Given the description of an element on the screen output the (x, y) to click on. 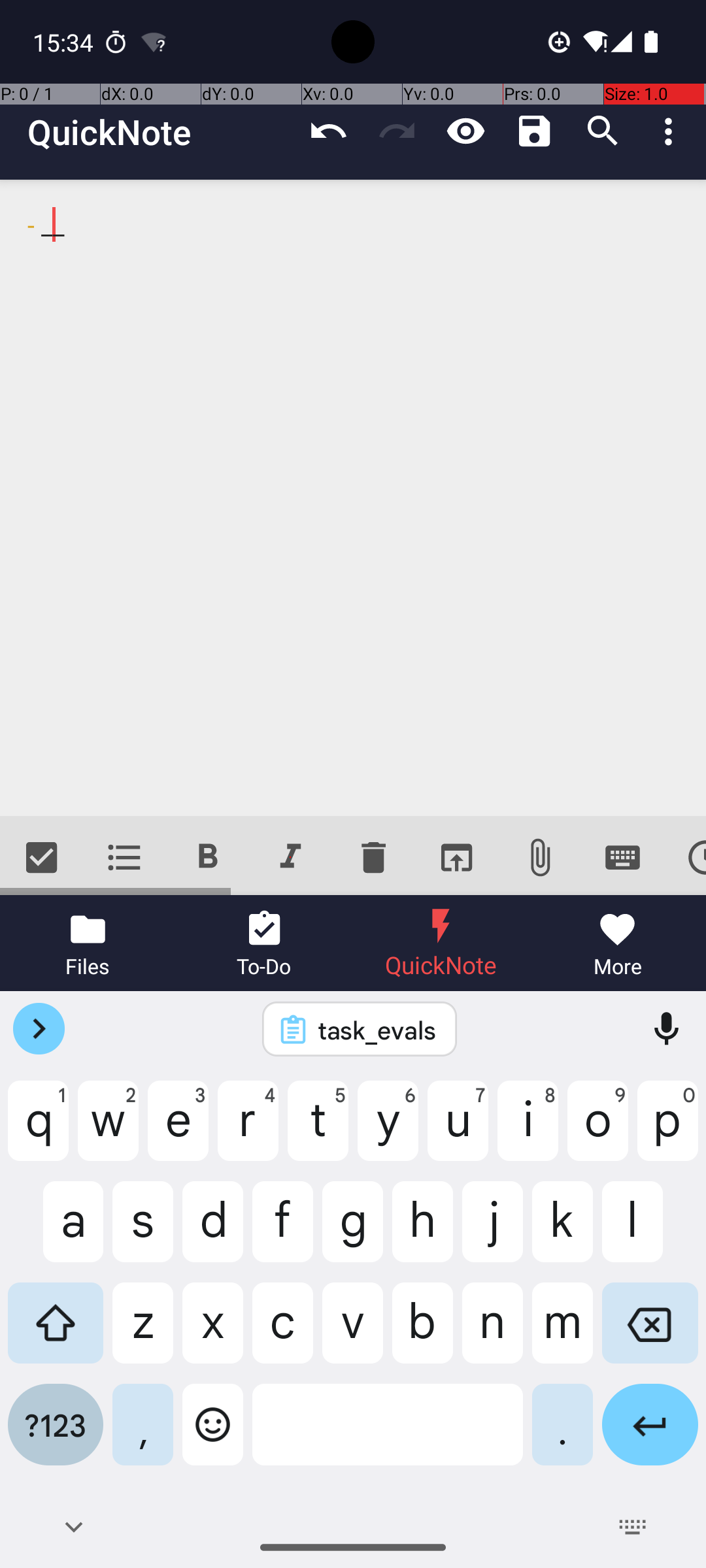
- __ Element type: android.widget.EditText (353, 497)
task_evals Element type: android.widget.TextView (376, 1029)
